Given the description of an element on the screen output the (x, y) to click on. 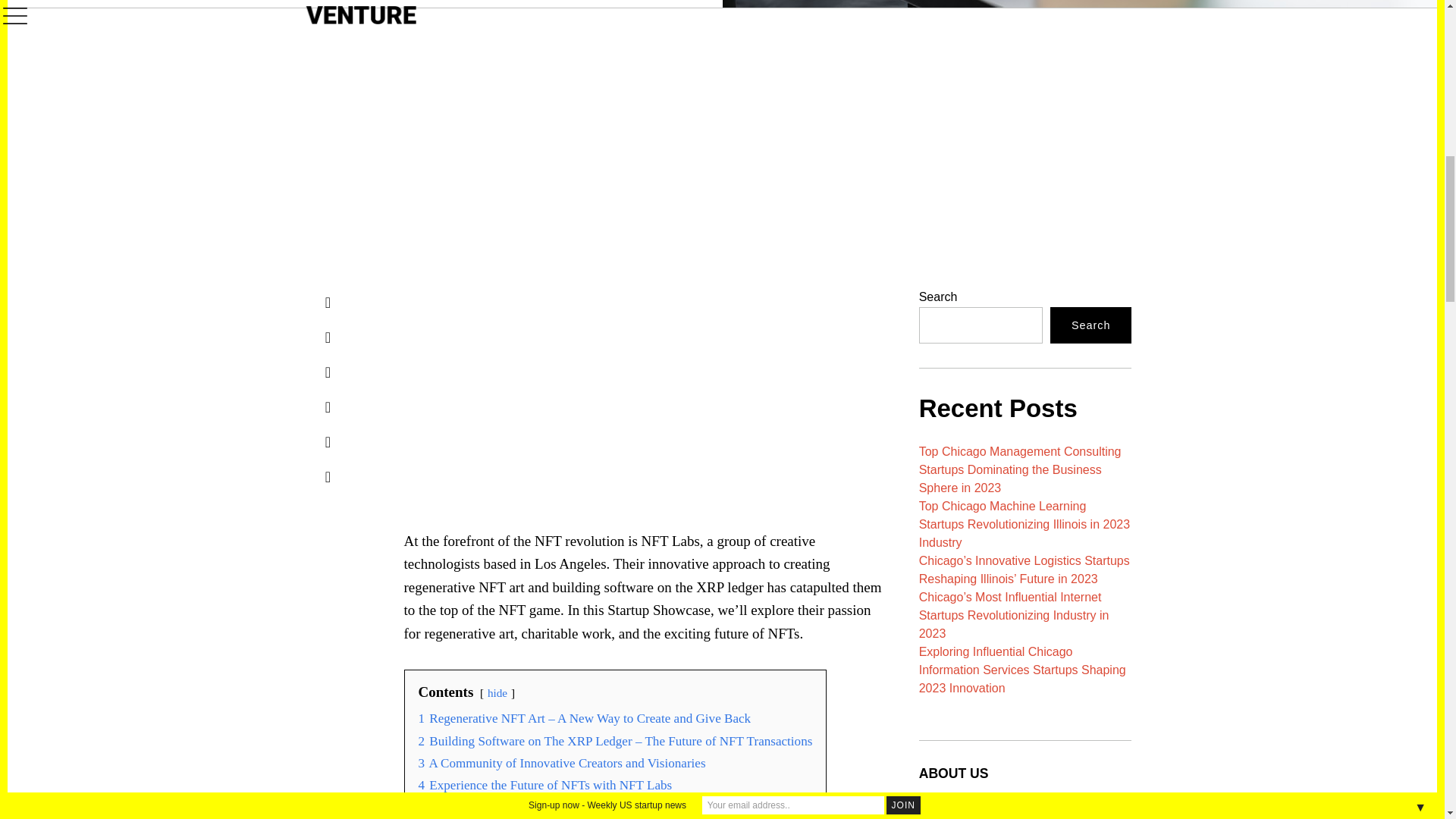
hide (496, 692)
3 A Community of Innovative Creators and Visionaries (562, 762)
Search (1090, 325)
4 Experience the Future of NFTs with NFT Labs (545, 785)
Advertisement (708, 393)
